Given the description of an element on the screen output the (x, y) to click on. 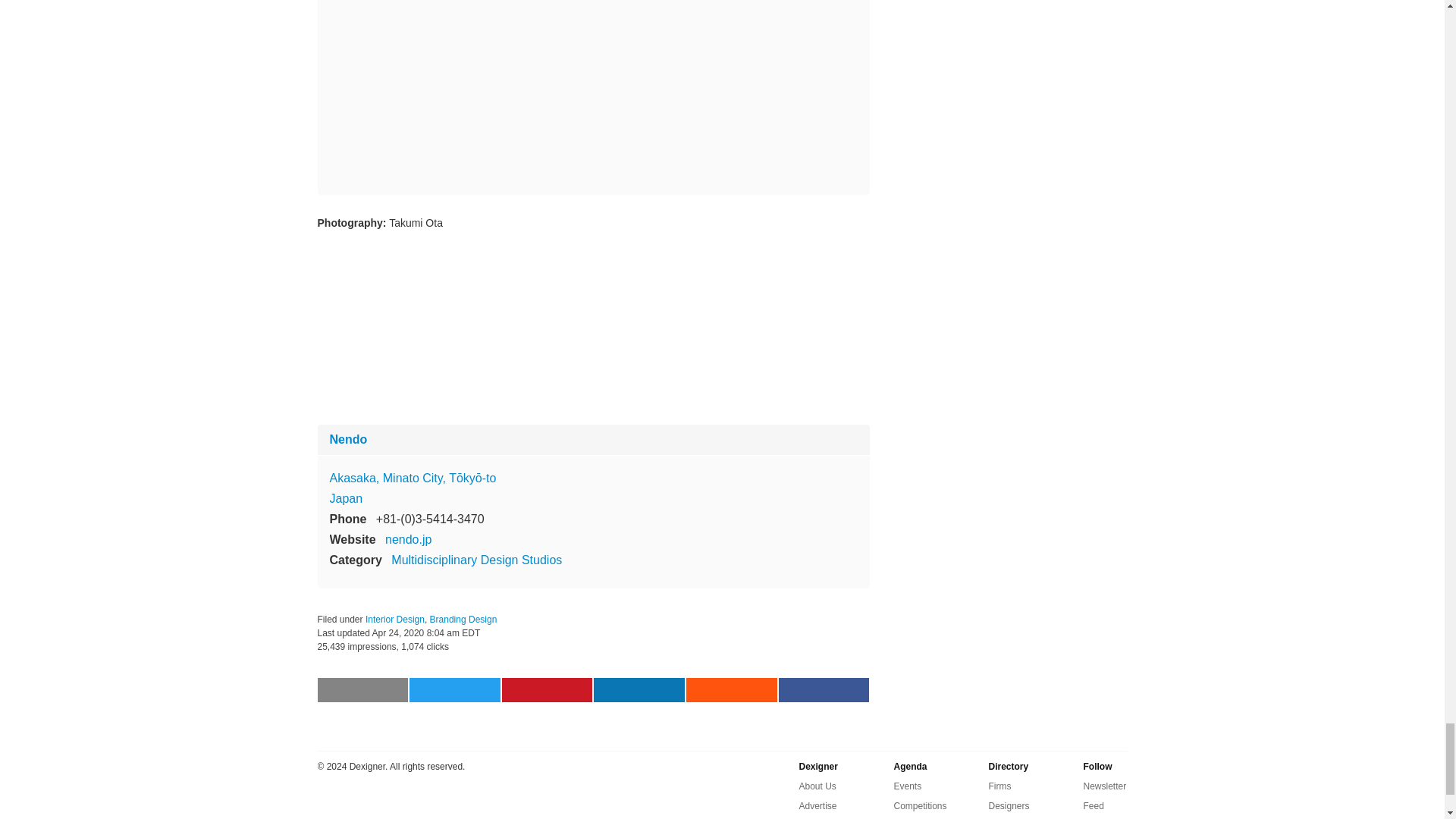
Advertise (818, 805)
Japan (345, 498)
Local Search (919, 817)
Newsletter (1104, 786)
Branding Design (463, 619)
Competitions (919, 805)
Interior Design (395, 619)
Firms (999, 786)
Multidisciplinary Design Studios (476, 559)
Feed (1093, 805)
Nendo (347, 439)
Designers (1008, 805)
About Us (817, 786)
Contact (814, 817)
View on Map (412, 477)
